Given the description of an element on the screen output the (x, y) to click on. 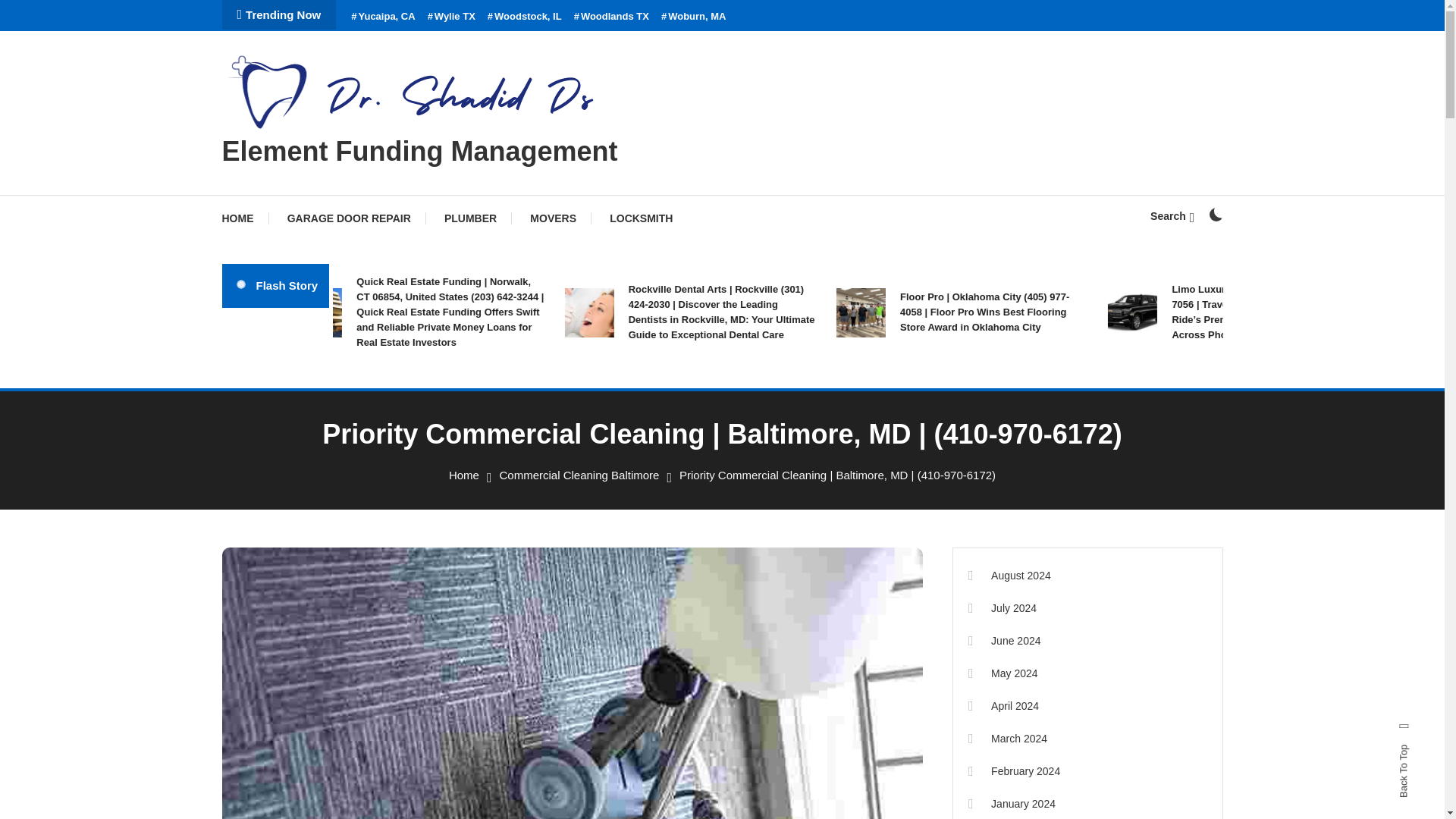
Search (768, 434)
Commercial Cleaning Baltimore (579, 474)
Woodlands TX (611, 16)
GARAGE DOOR REPAIR (349, 217)
Yucaipa, CA (382, 16)
Element Funding Management (419, 151)
on (1215, 214)
LOCKSMITH (640, 217)
Woburn, MA (693, 16)
Home (463, 474)
